Given the description of an element on the screen output the (x, y) to click on. 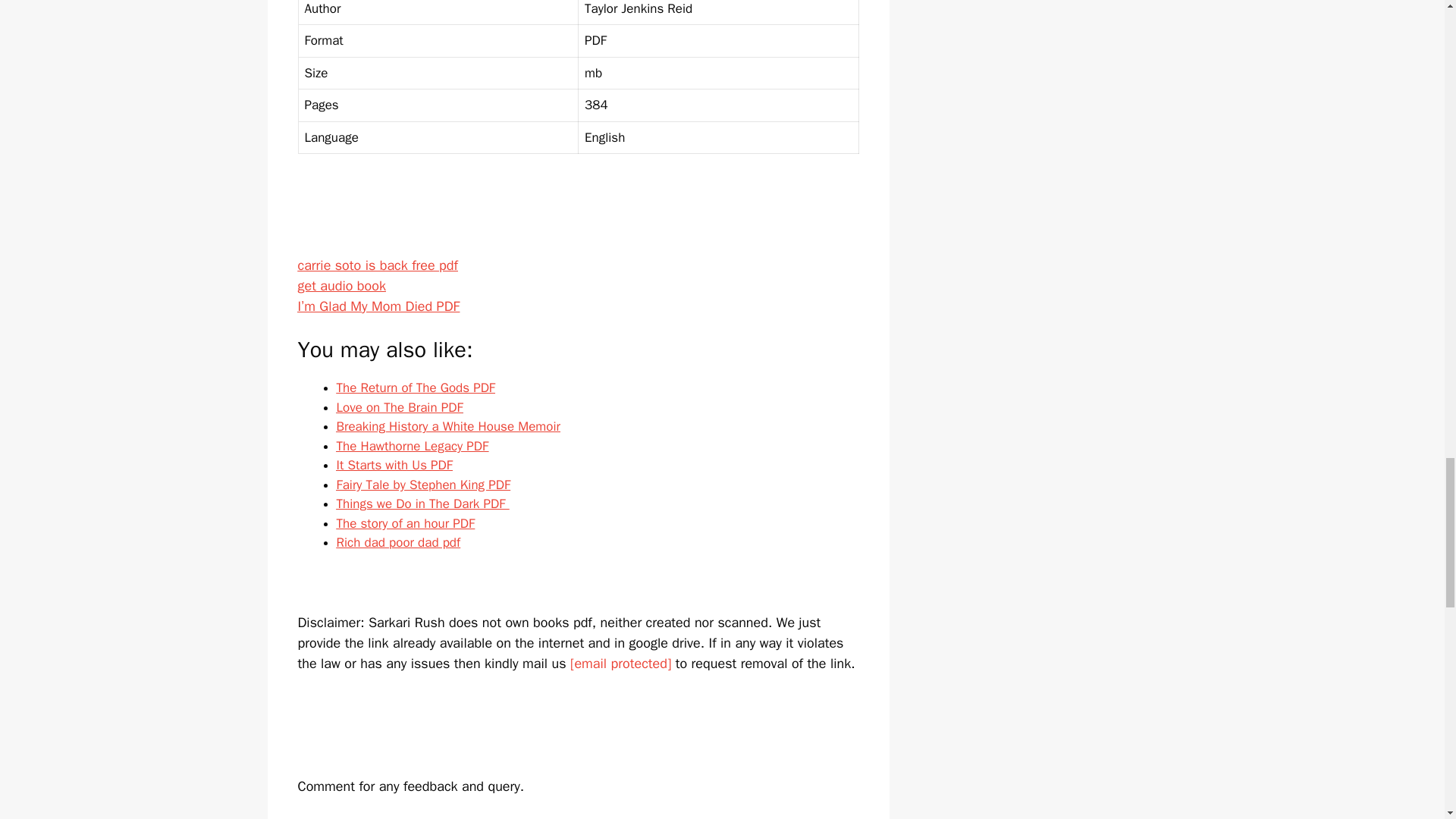
The Hawthorne Legacy PDF (412, 446)
get audio book (341, 285)
The story of an hour PDF (406, 523)
carrie soto is back free pdf (377, 265)
Breaking History a White House Memoir (448, 426)
Fairy Tale by Stephen King PDF (423, 484)
Things we Do in The Dark PDF  (422, 503)
Rich dad poor dad pdf (398, 542)
It Starts with Us PDF (394, 465)
Love on The Brain PDF (399, 407)
The Return of The Gods PDF (416, 387)
